Given the description of an element on the screen output the (x, y) to click on. 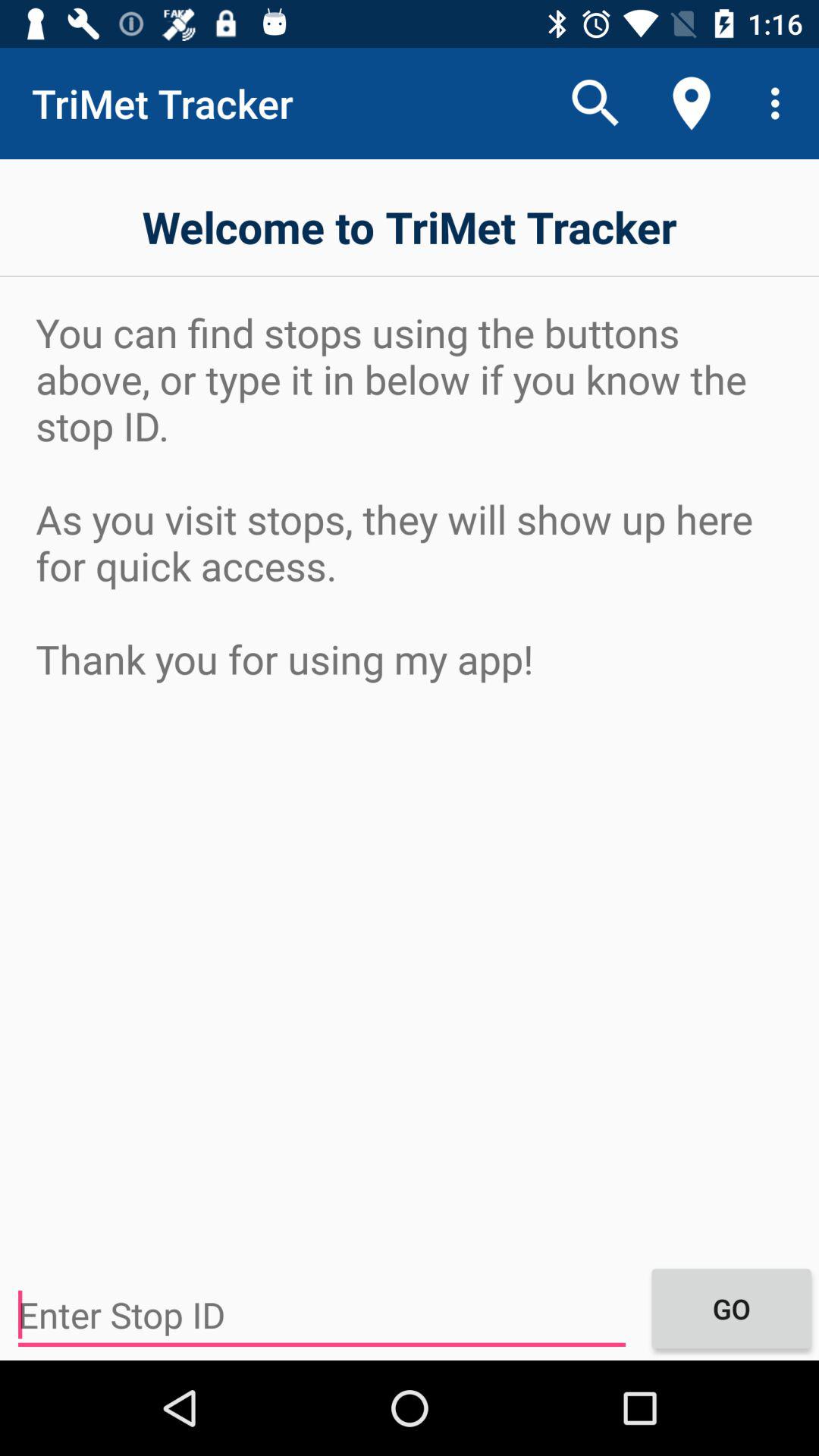
choose icon below you can find (321, 1315)
